Given the description of an element on the screen output the (x, y) to click on. 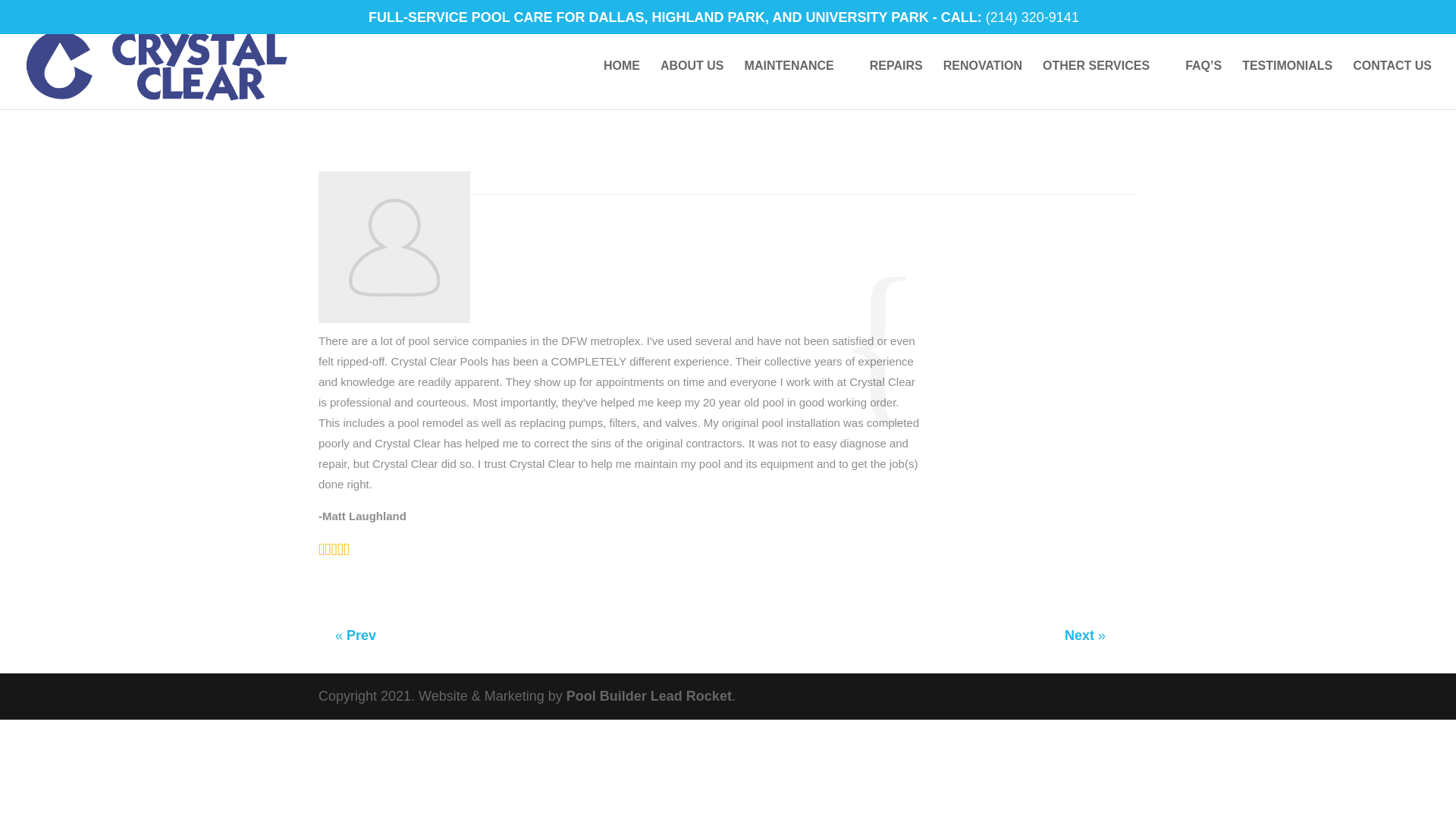
RENOVATION (982, 84)
TESTIMONIALS (1286, 84)
REPAIRS (896, 84)
CONTACT US (1391, 84)
OTHER SERVICES (1103, 84)
MAINTENANCE (796, 84)
ABOUT US (692, 84)
Pool Builder Lead Rocket (649, 695)
